Given the description of an element on the screen output the (x, y) to click on. 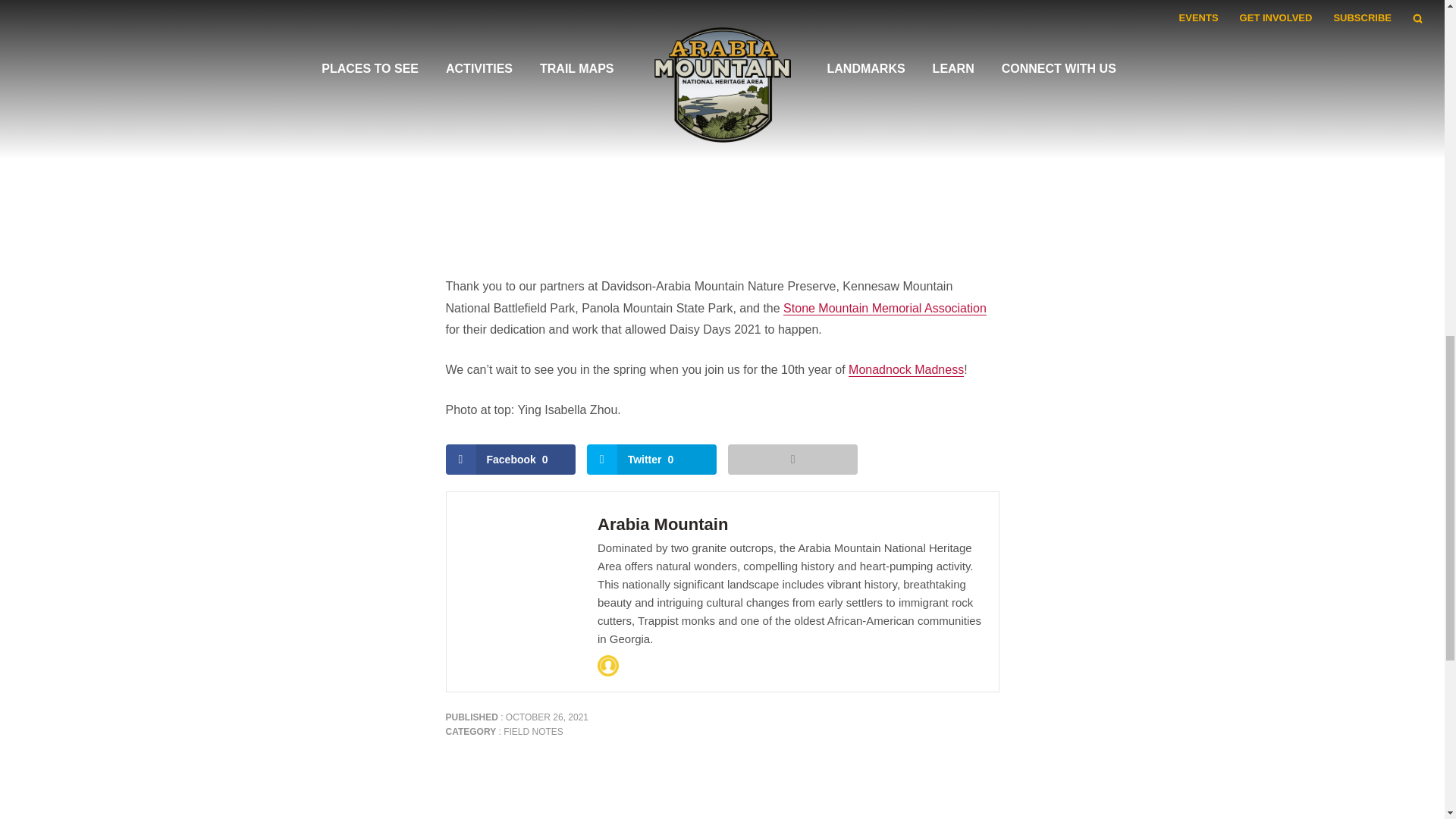
YouTube video player (721, 115)
